Given the description of an element on the screen output the (x, y) to click on. 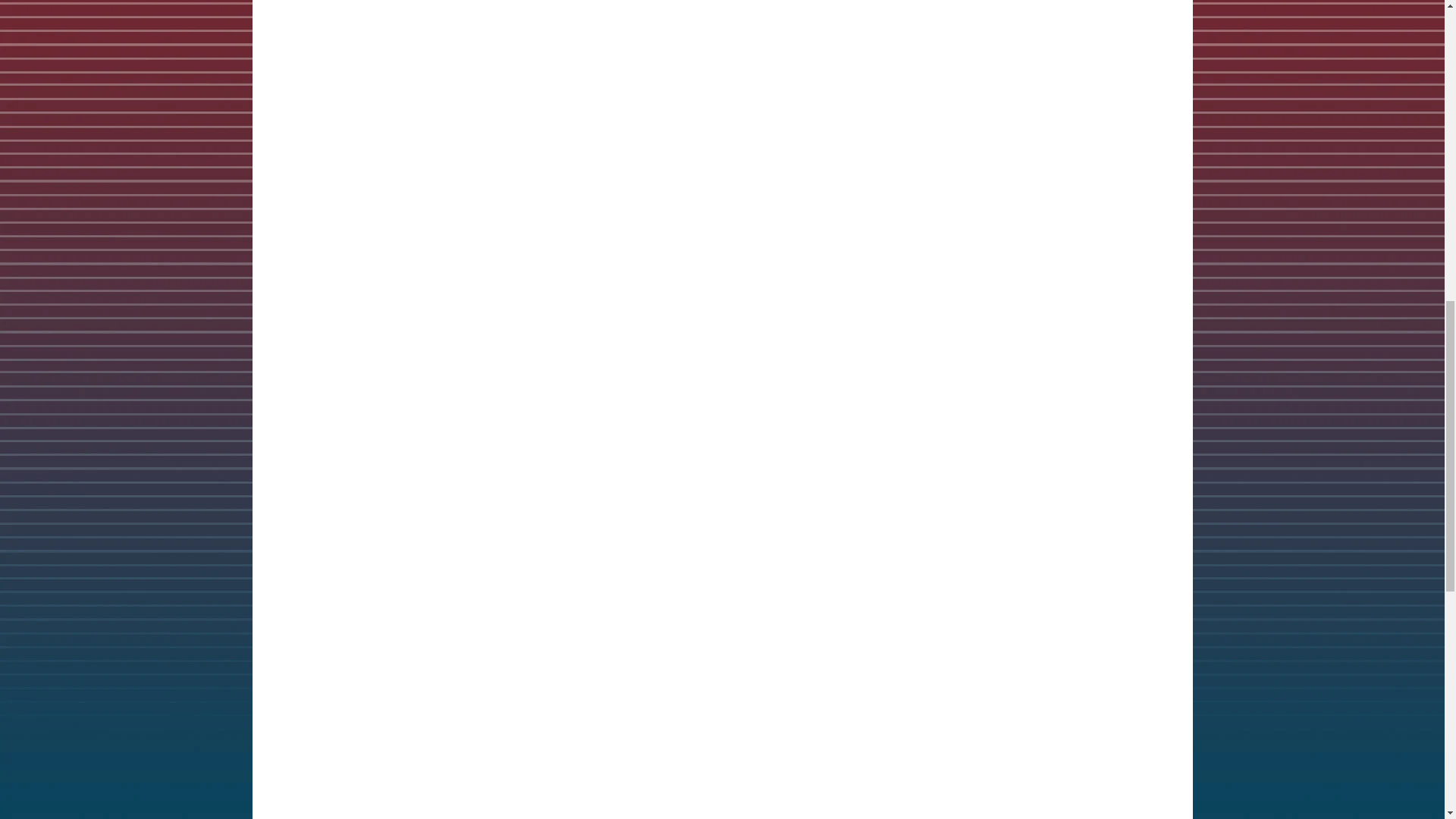
petrographic thin sections service (384, 76)
thin section services (527, 774)
